Given the description of an element on the screen output the (x, y) to click on. 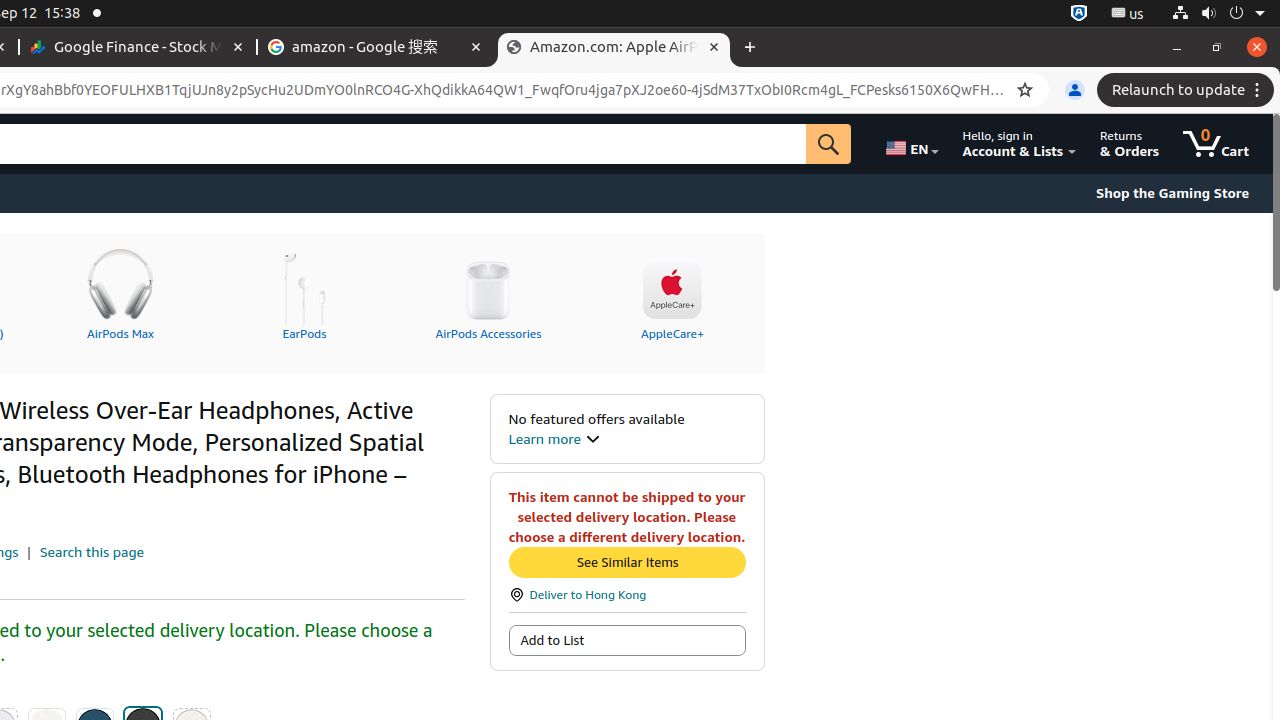
Choose a language for shopping. Element type: link (911, 144)
AirPods Accessories Element type: link (488, 291)
Deliver to Hong Kong Element type: link (627, 594)
Hello, sign in Account & Lists Element type: link (1019, 144)
New Tab Element type: push-button (750, 47)
